Given the description of an element on the screen output the (x, y) to click on. 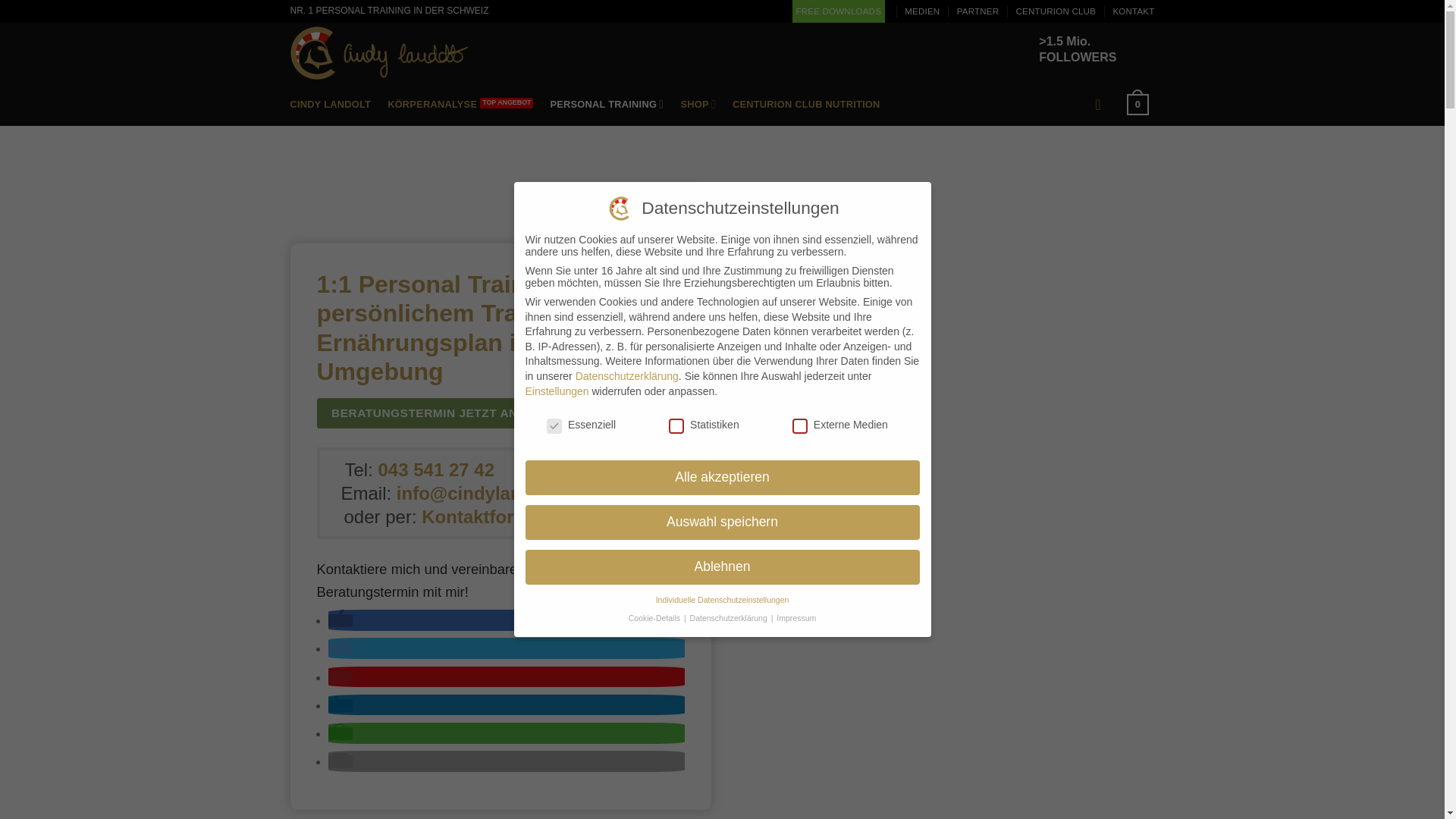
Bei Whatsapp teilen Element type: hover (340, 733)
Bei Facebook teilen Element type: hover (340, 620)
Bei Pinterest pinnen Element type: hover (340, 677)
Individuelle Datenschutzeinstellungen Element type: text (722, 599)
KONTAKT Element type: text (1133, 11)
0 Element type: text (1140, 104)
PERSONAL TRAINING Element type: text (609, 104)
SHOP Element type: text (700, 104)
Bei Twitter teilen Element type: hover (340, 648)
MEDIEN Element type: text (921, 11)
Bei LinkedIn teilen Element type: hover (340, 705)
Per E-Mail versenden Element type: hover (340, 761)
043 541 27 42 Element type: text (436, 469)
CENTURION CLUB Element type: text (1055, 11)
FREE DOWNLOADS Element type: text (838, 11)
Alle akzeptieren Element type: text (721, 477)
Auswahl speichern Element type: text (721, 522)
CENTURION CLUB NUTRITION Element type: text (809, 104)
Cookie-Details Element type: text (655, 617)
BERATUNGSTERMIN JETZT ANFRAGEN Element type: text (450, 412)
Kontaktformular Element type: text (492, 516)
Einstellungen Element type: text (556, 391)
Ablehnen Element type: text (721, 566)
PARTNER Element type: text (978, 11)
info@cindylandolt.ch Element type: text (488, 493)
Impressum Element type: text (795, 617)
CINDY LANDOLT Element type: text (332, 104)
